Given the description of an element on the screen output the (x, y) to click on. 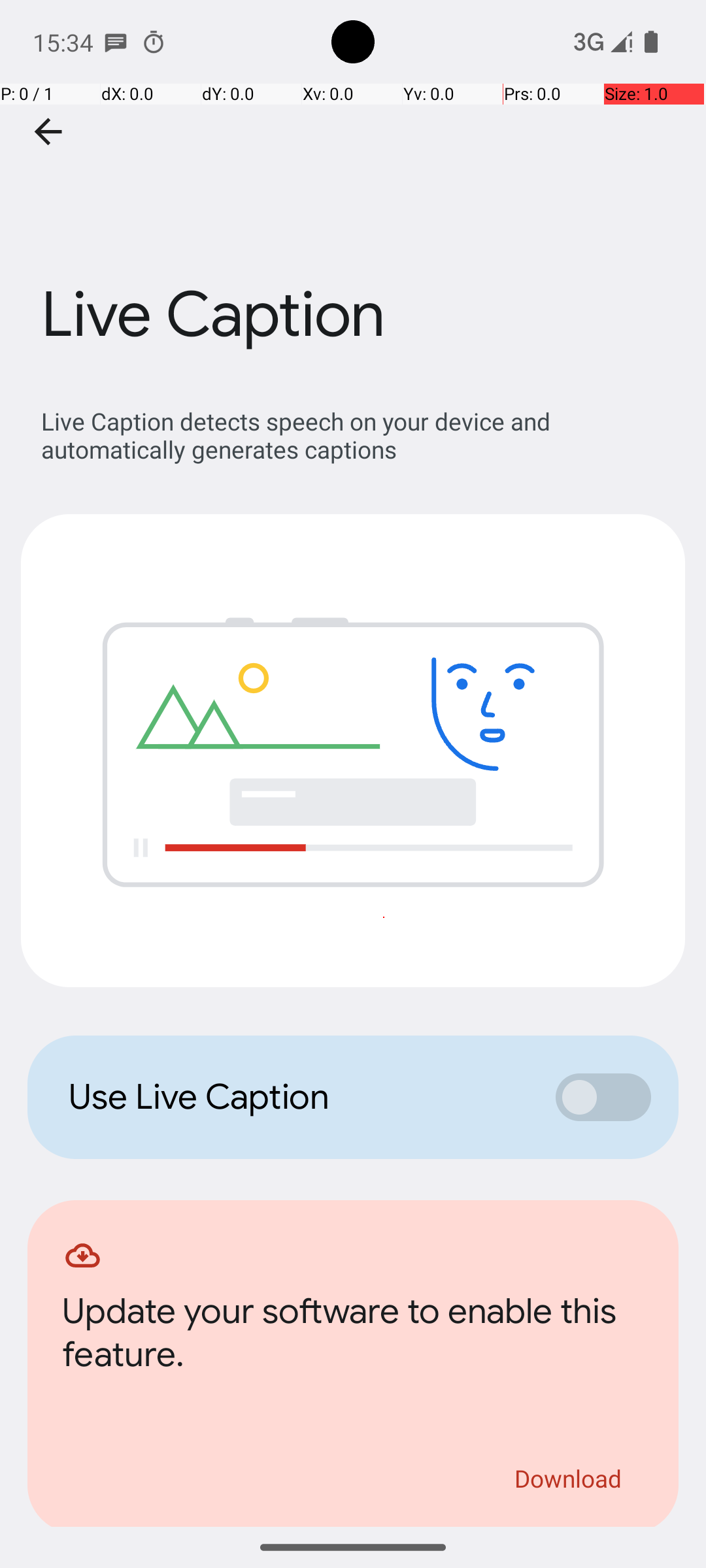
Live Caption detects speech on your device and automatically generates captions Element type: android.widget.TextView (359, 434)
Use Live Caption Element type: android.widget.TextView (298, 1096)
Update your software to enable this feature. Element type: android.widget.TextView (352, 1336)
